Given the description of an element on the screen output the (x, y) to click on. 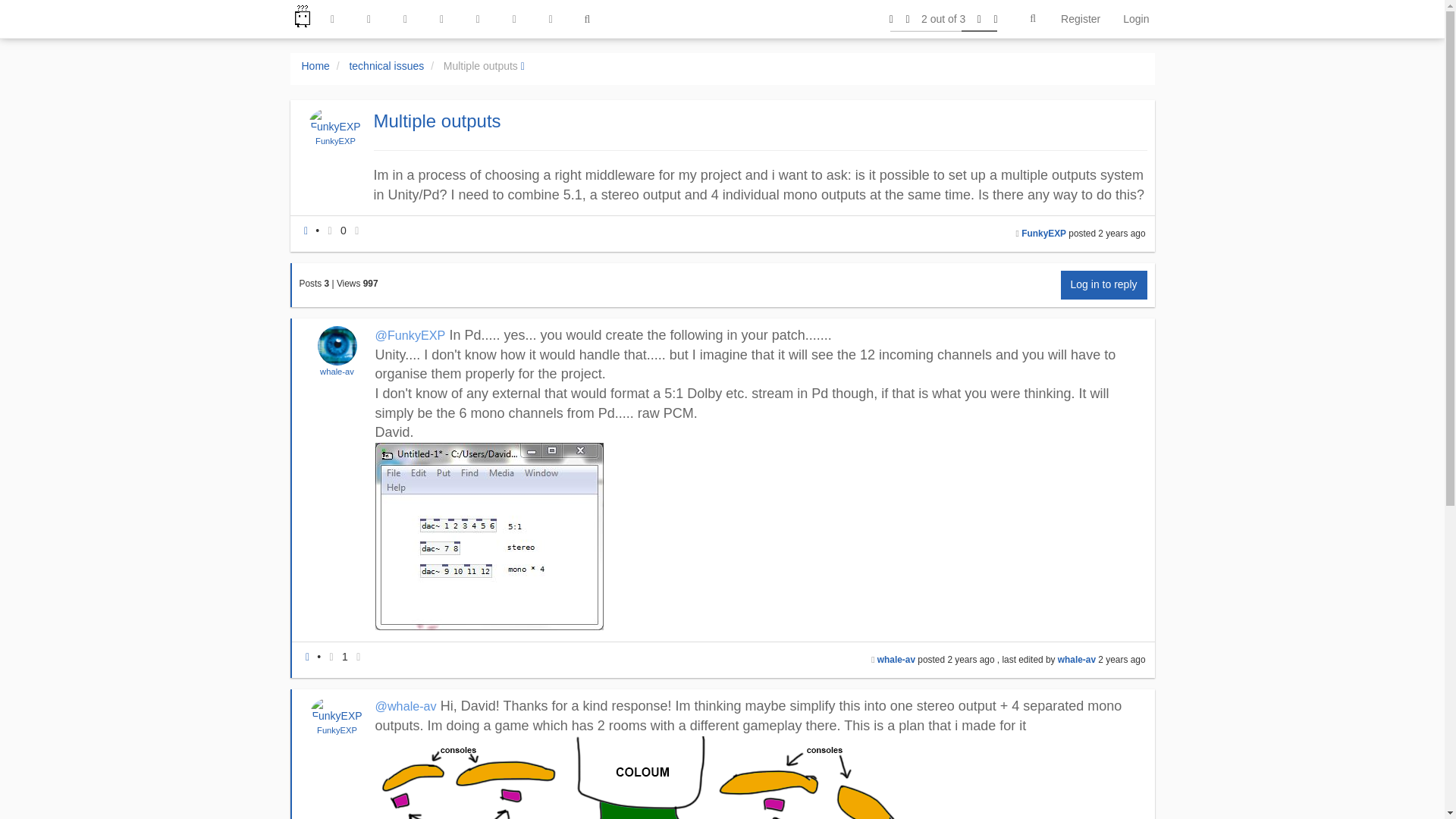
Login (1136, 18)
997 (370, 283)
FunkyEXP (1043, 233)
Register (1080, 18)
2 out of 3 (943, 18)
Home (315, 65)
FunkyEXP (335, 141)
whale-av (336, 370)
Log in to reply (1104, 285)
Search (1032, 18)
